Given the description of an element on the screen output the (x, y) to click on. 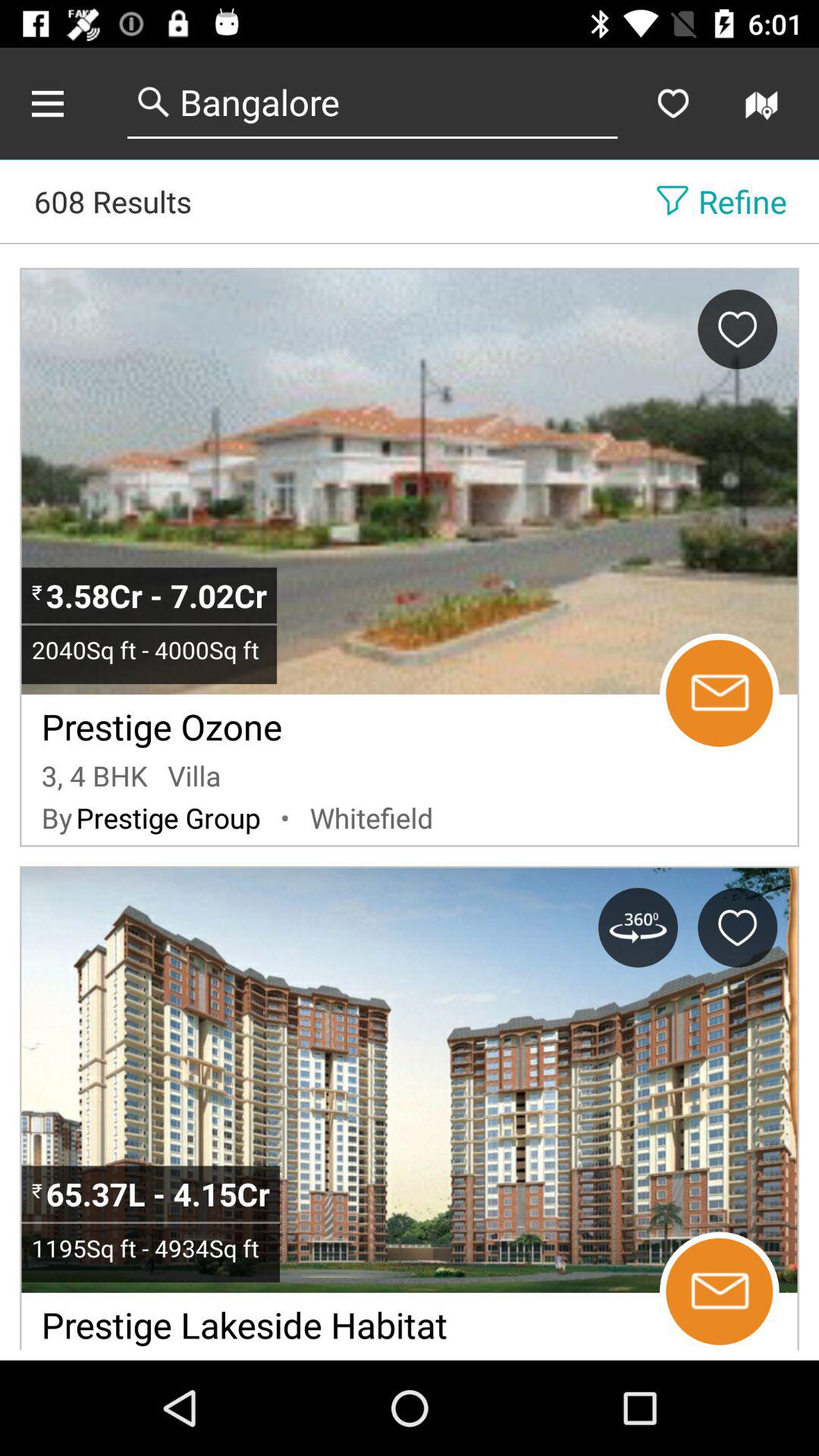
favorite location (737, 927)
